Given the description of an element on the screen output the (x, y) to click on. 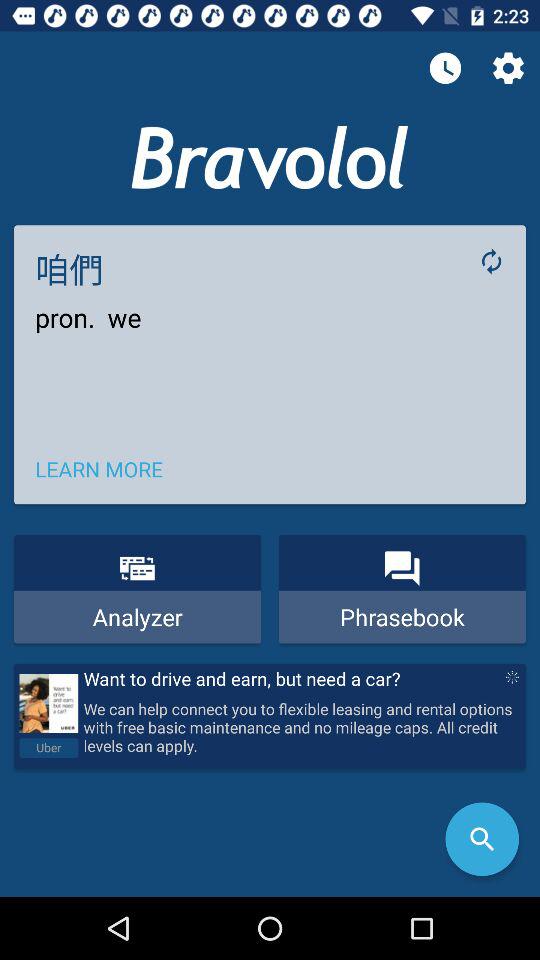
search (482, 839)
